Given the description of an element on the screen output the (x, y) to click on. 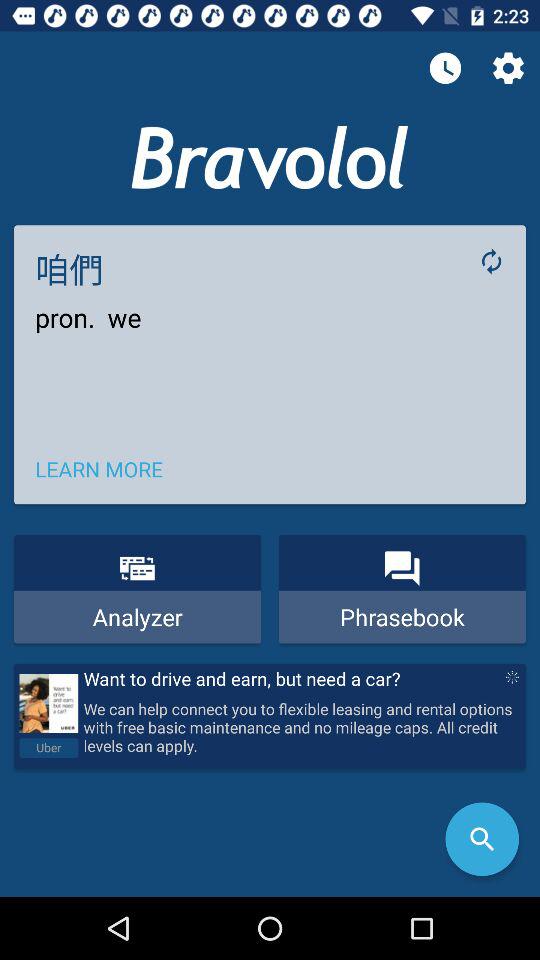
search (482, 839)
